Given the description of an element on the screen output the (x, y) to click on. 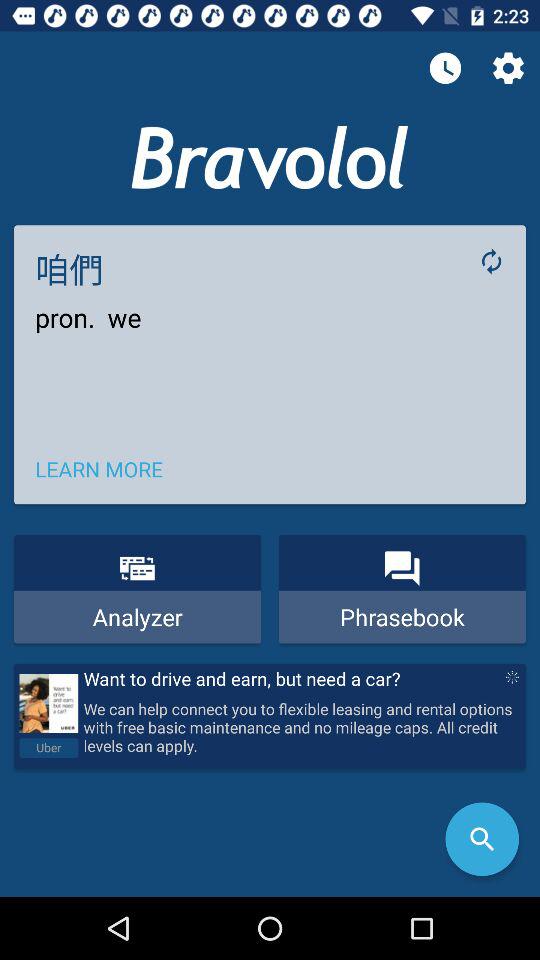
search (482, 839)
